Given the description of an element on the screen output the (x, y) to click on. 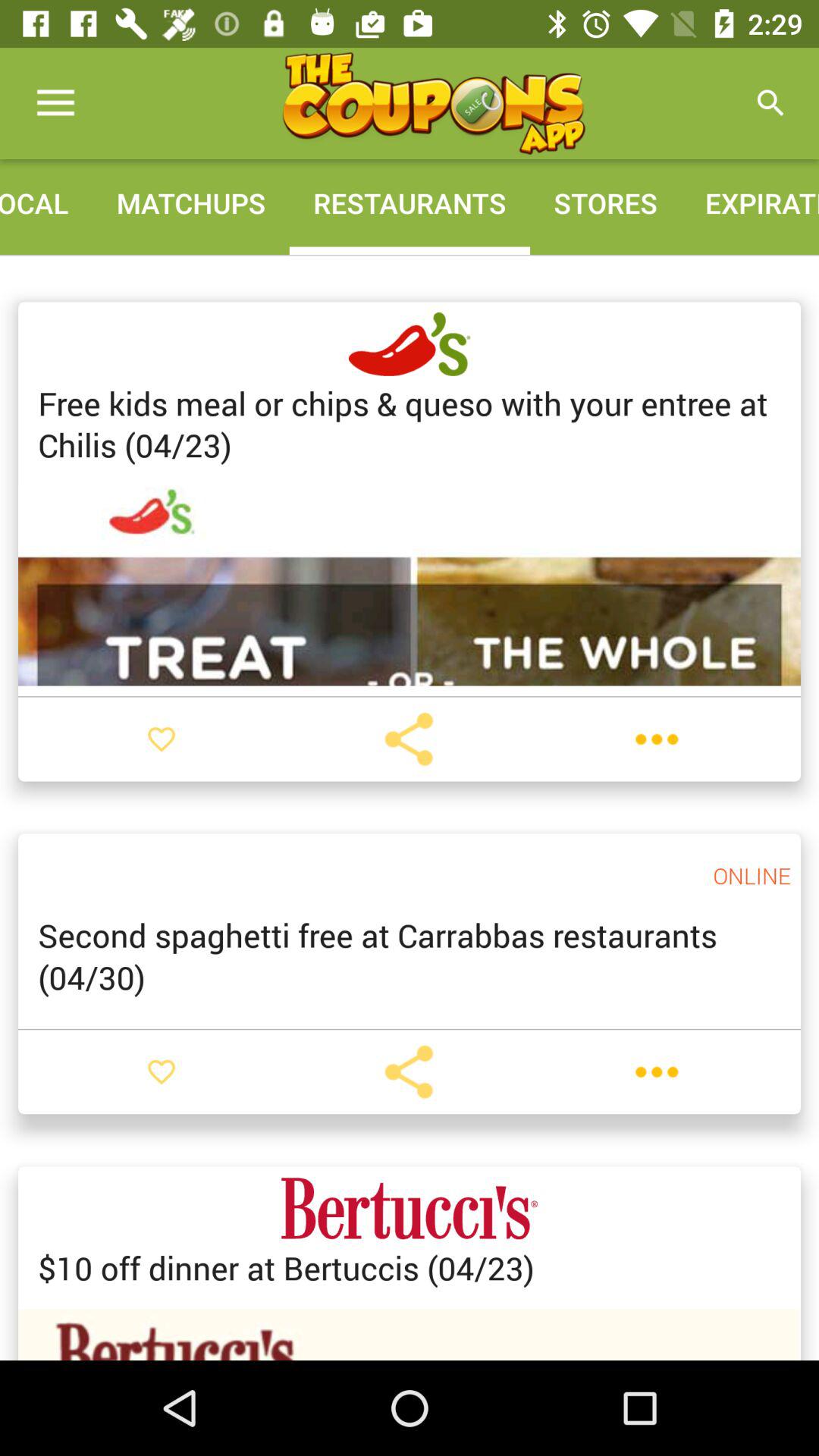
save as favorite (161, 739)
